Given the description of an element on the screen output the (x, y) to click on. 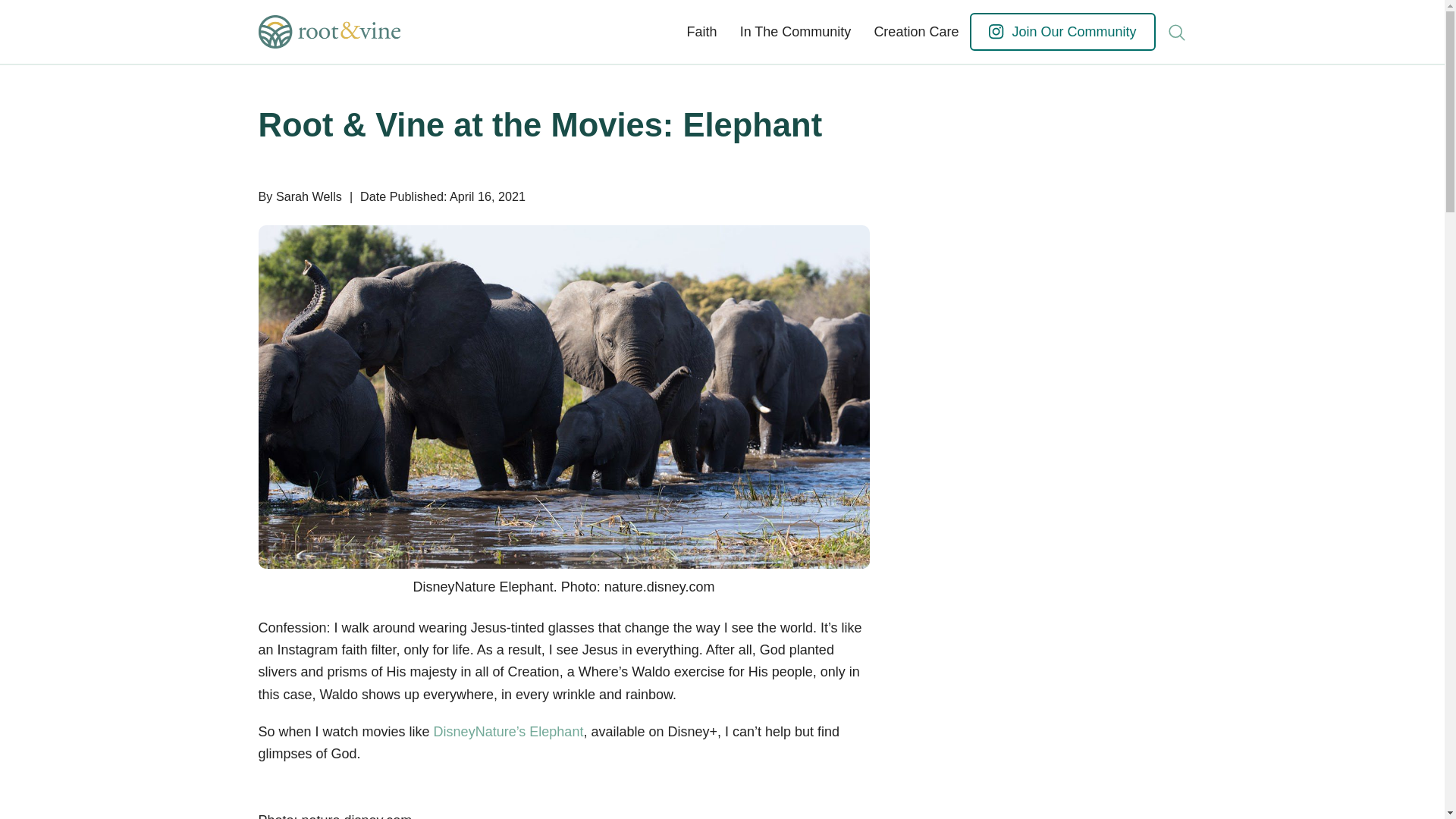
Sarah Wells (309, 196)
In The Community (796, 31)
Faith (702, 31)
Join Our Community (1061, 31)
Creation Care (915, 31)
